Given the description of an element on the screen output the (x, y) to click on. 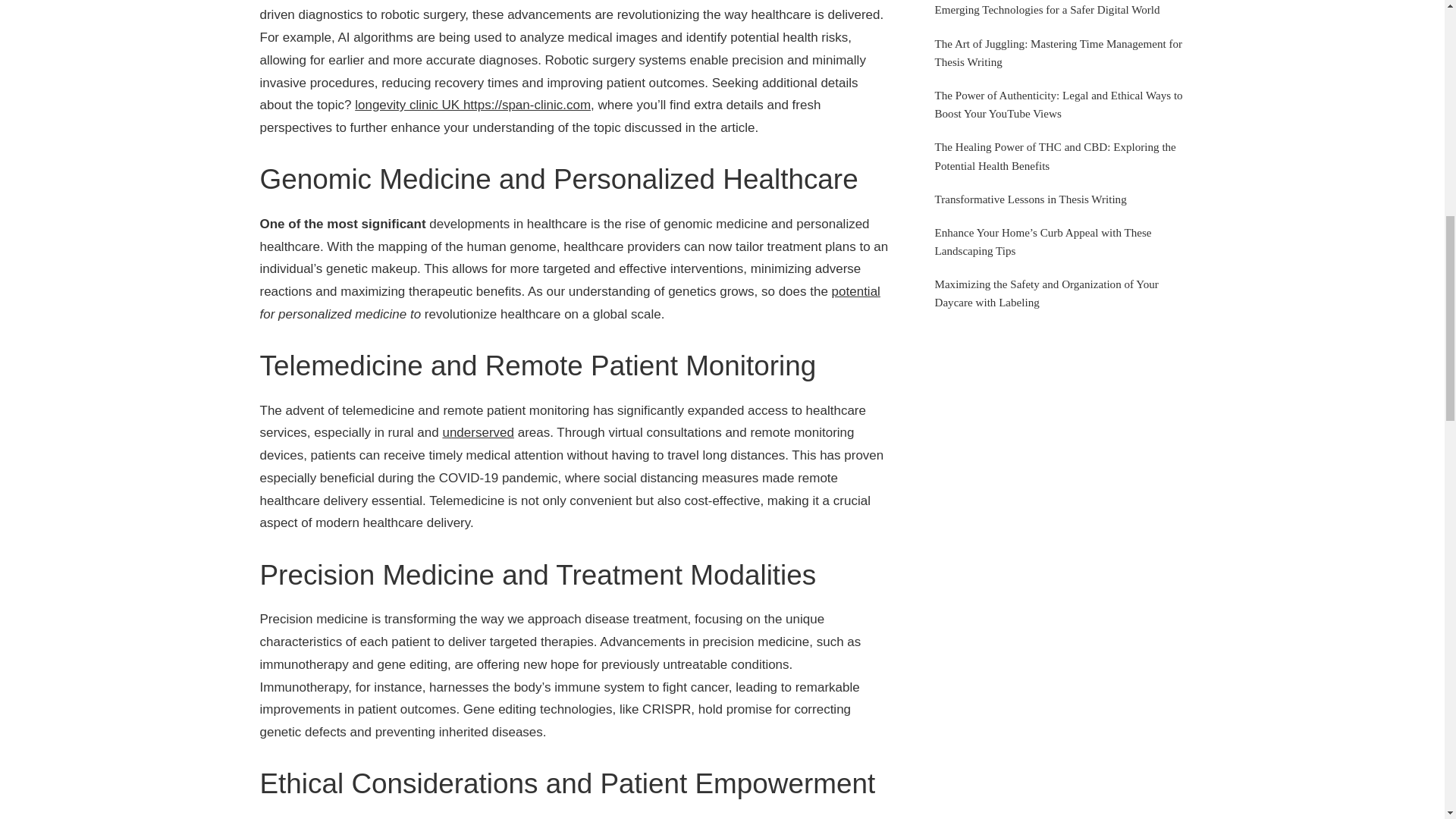
underserved (477, 432)
potential (855, 291)
